Given the description of an element on the screen output the (x, y) to click on. 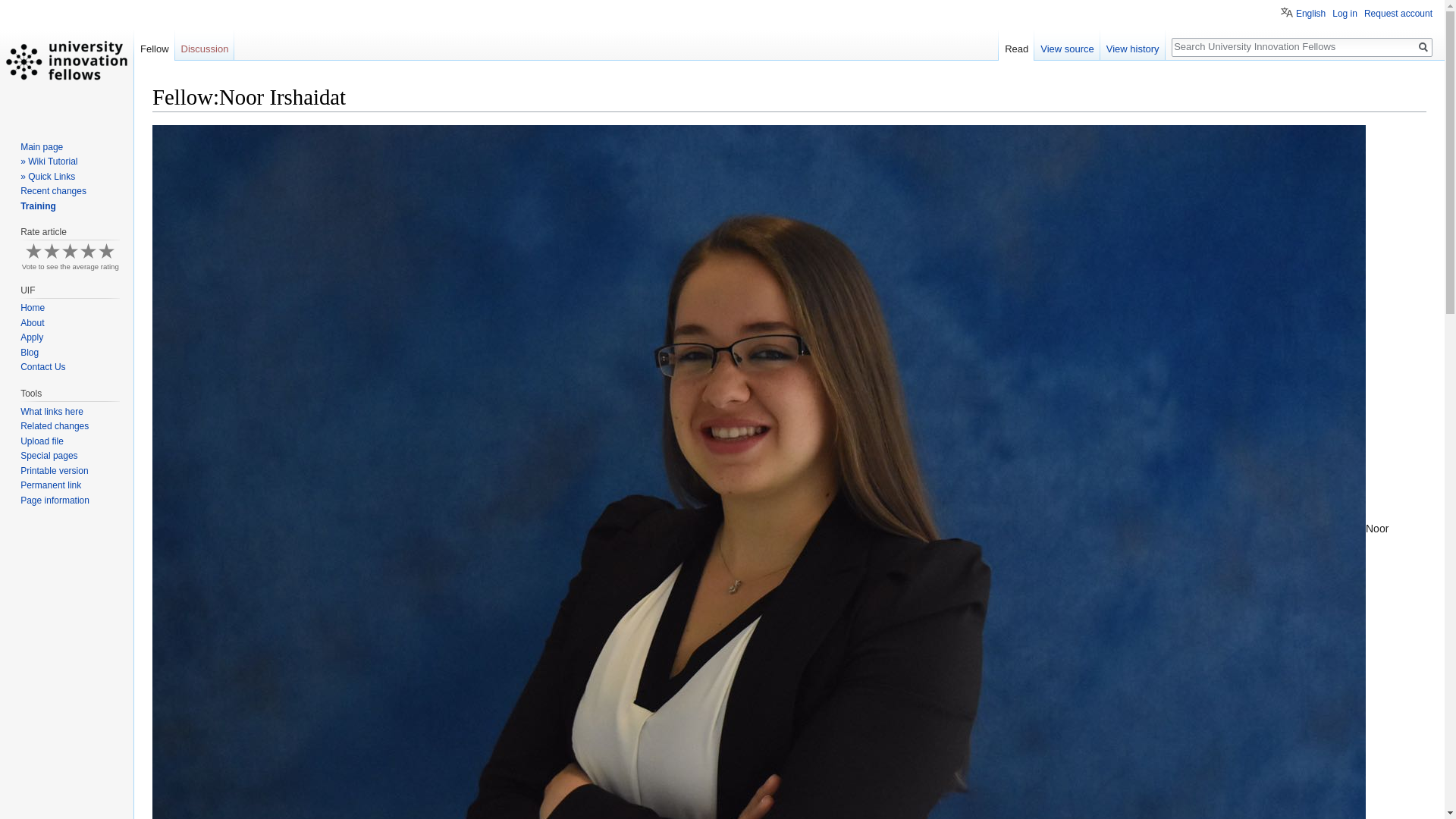
Go (1423, 46)
Go (1423, 46)
